Given the description of an element on the screen output the (x, y) to click on. 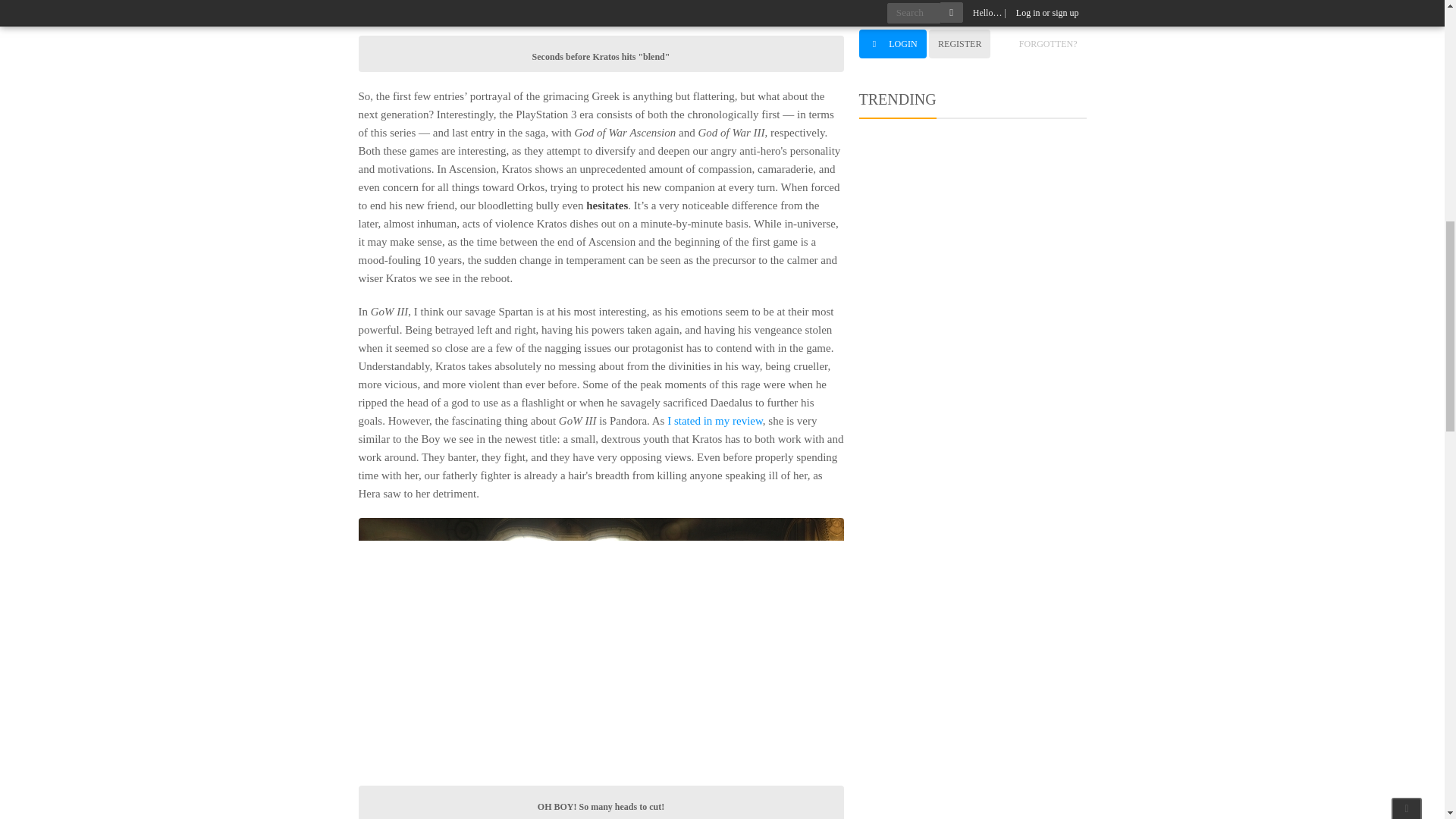
I stated in my review (712, 420)
1 (865, 9)
